Given the description of an element on the screen output the (x, y) to click on. 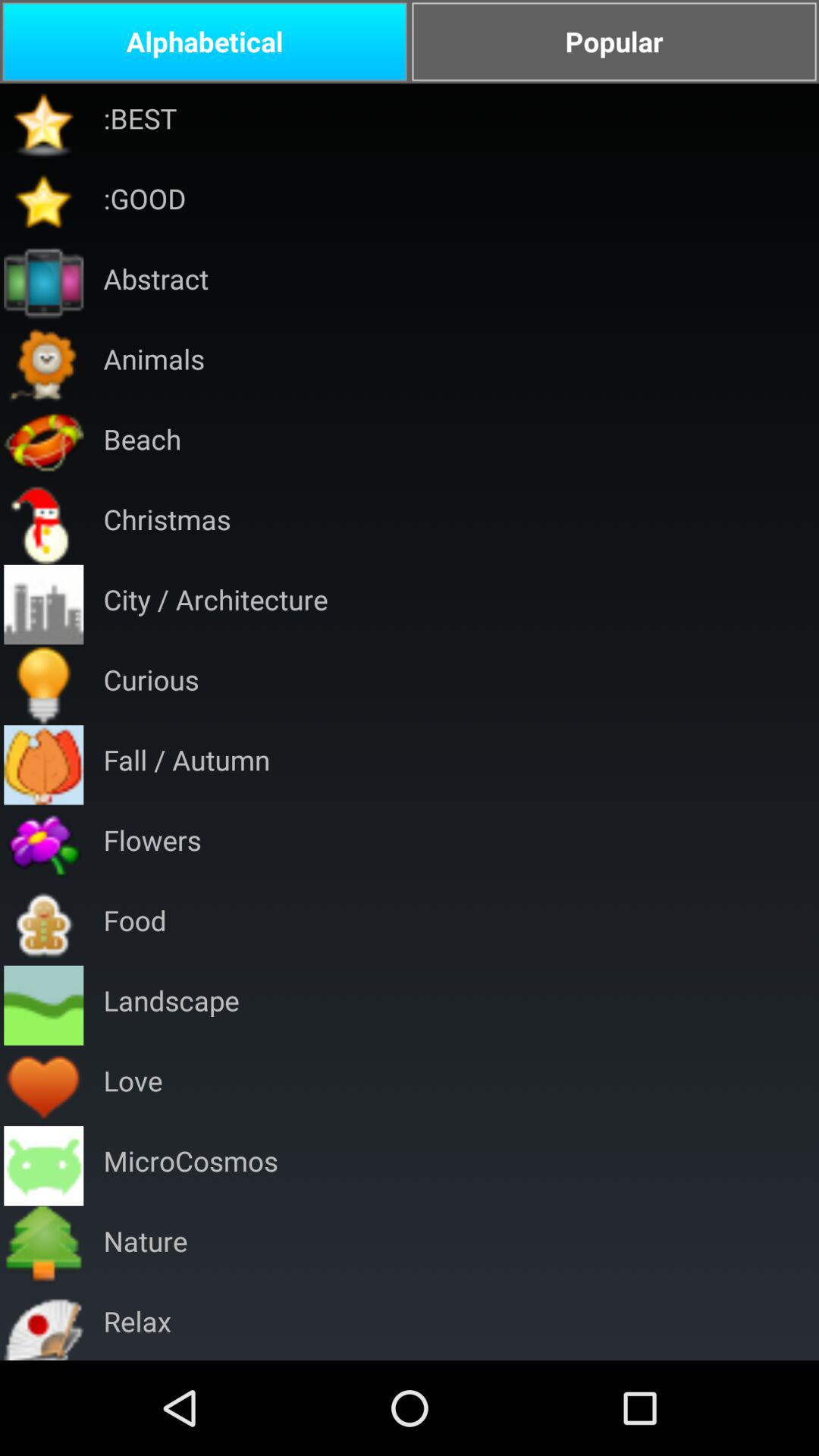
jump to flowers item (152, 844)
